Given the description of an element on the screen output the (x, y) to click on. 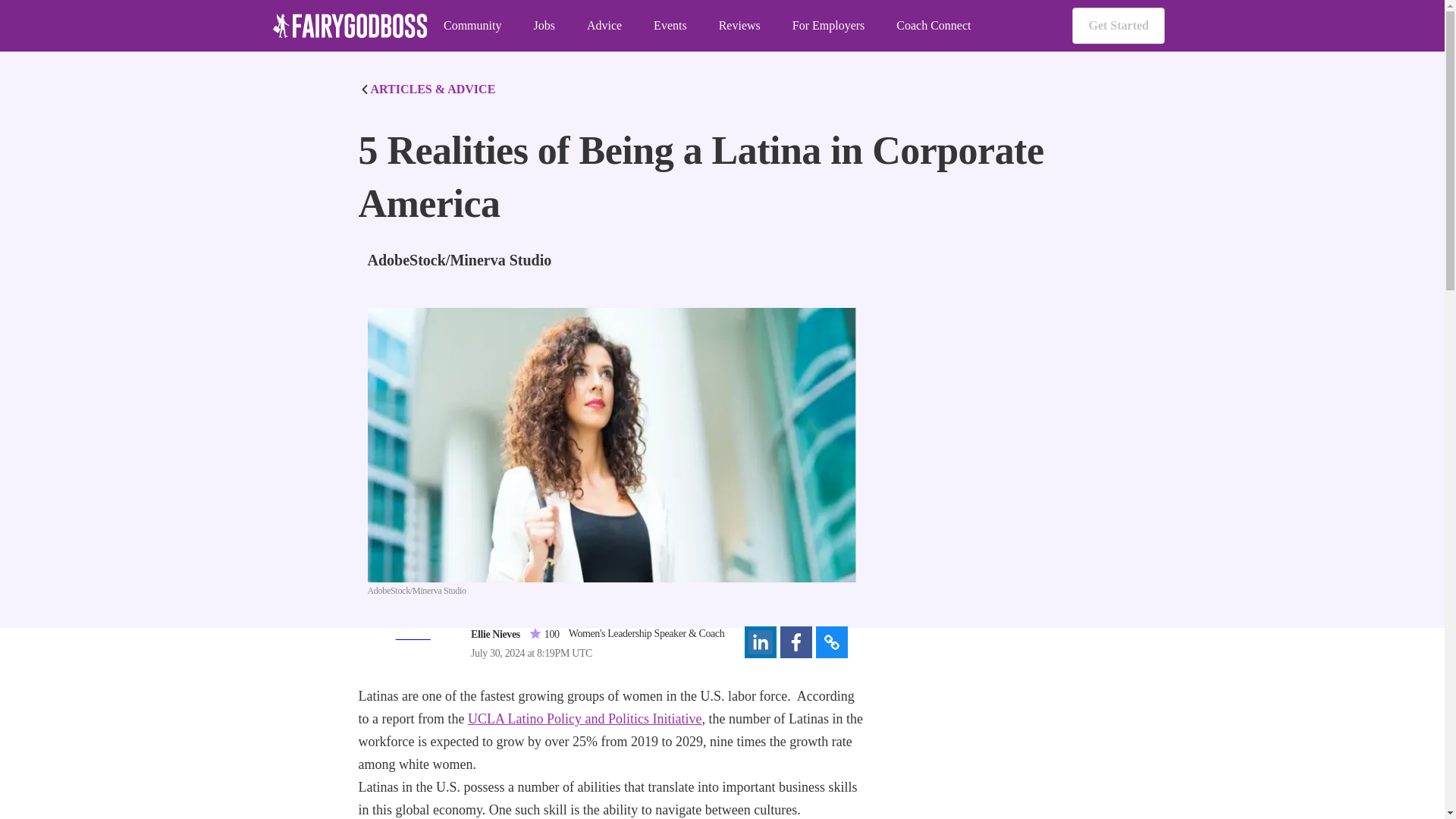
Events (670, 25)
Community (472, 25)
For Employers (828, 25)
Reviews (739, 25)
Community (472, 25)
Reviews (739, 25)
Events (670, 25)
UCLA Latino Policy and Politics Initiative (584, 718)
Advice (603, 25)
For Employers (828, 25)
Advice (603, 25)
Get Started (1117, 25)
Coach Connect (933, 25)
Jobs (543, 25)
Jobs (543, 25)
